Given the description of an element on the screen output the (x, y) to click on. 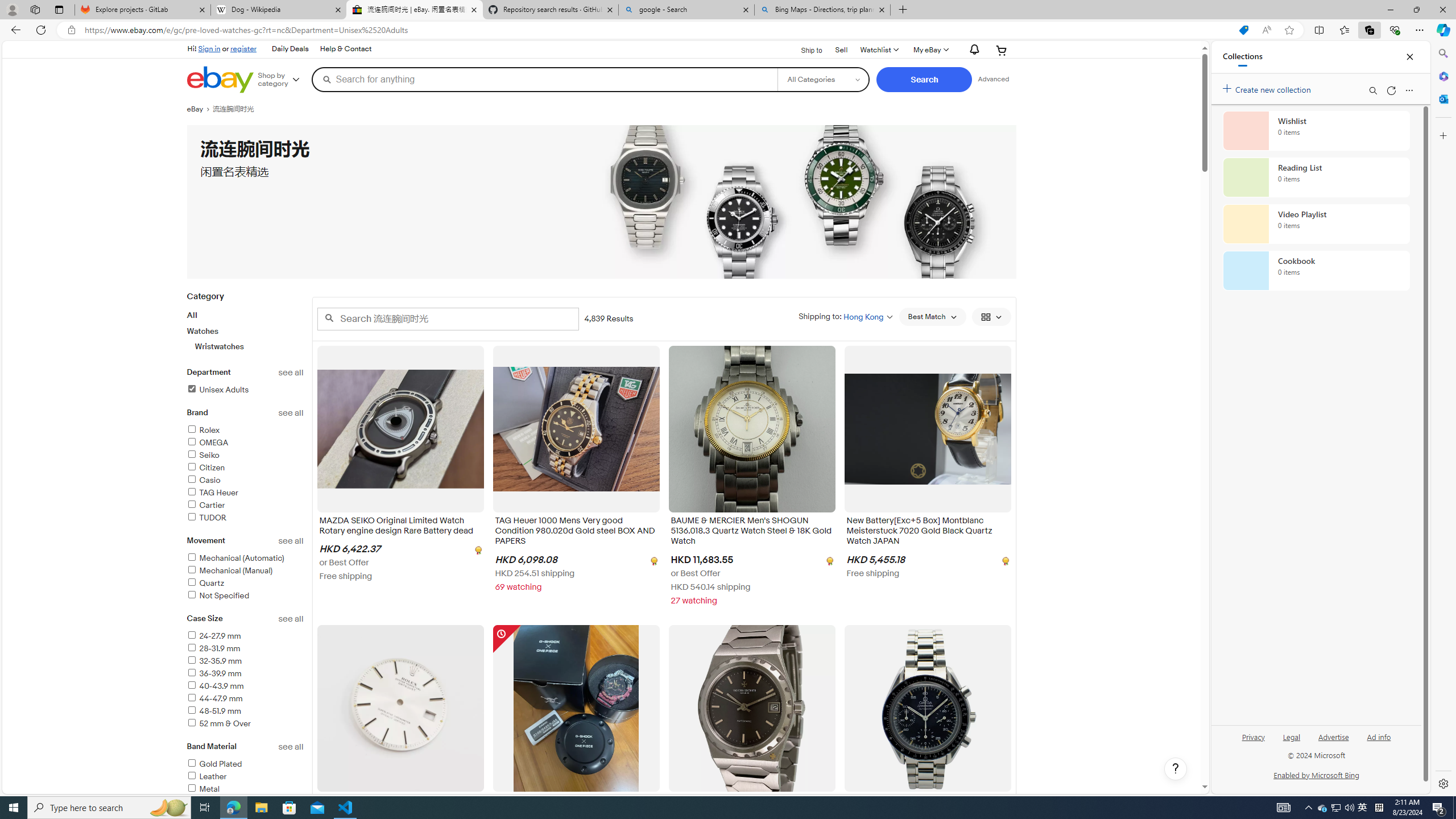
44-47.9 mm (245, 698)
24-27.9 mm (213, 636)
Rolex (245, 430)
More options menu (1409, 90)
Citizen (205, 467)
28-31.9 mm (213, 648)
28-31.9 mm (245, 648)
Shop by category (282, 79)
Brandsee allRolexOMEGASeikoCitizenCasioTAG HeuerCartierTUDOR (245, 471)
Leather (206, 776)
